Given the description of an element on the screen output the (x, y) to click on. 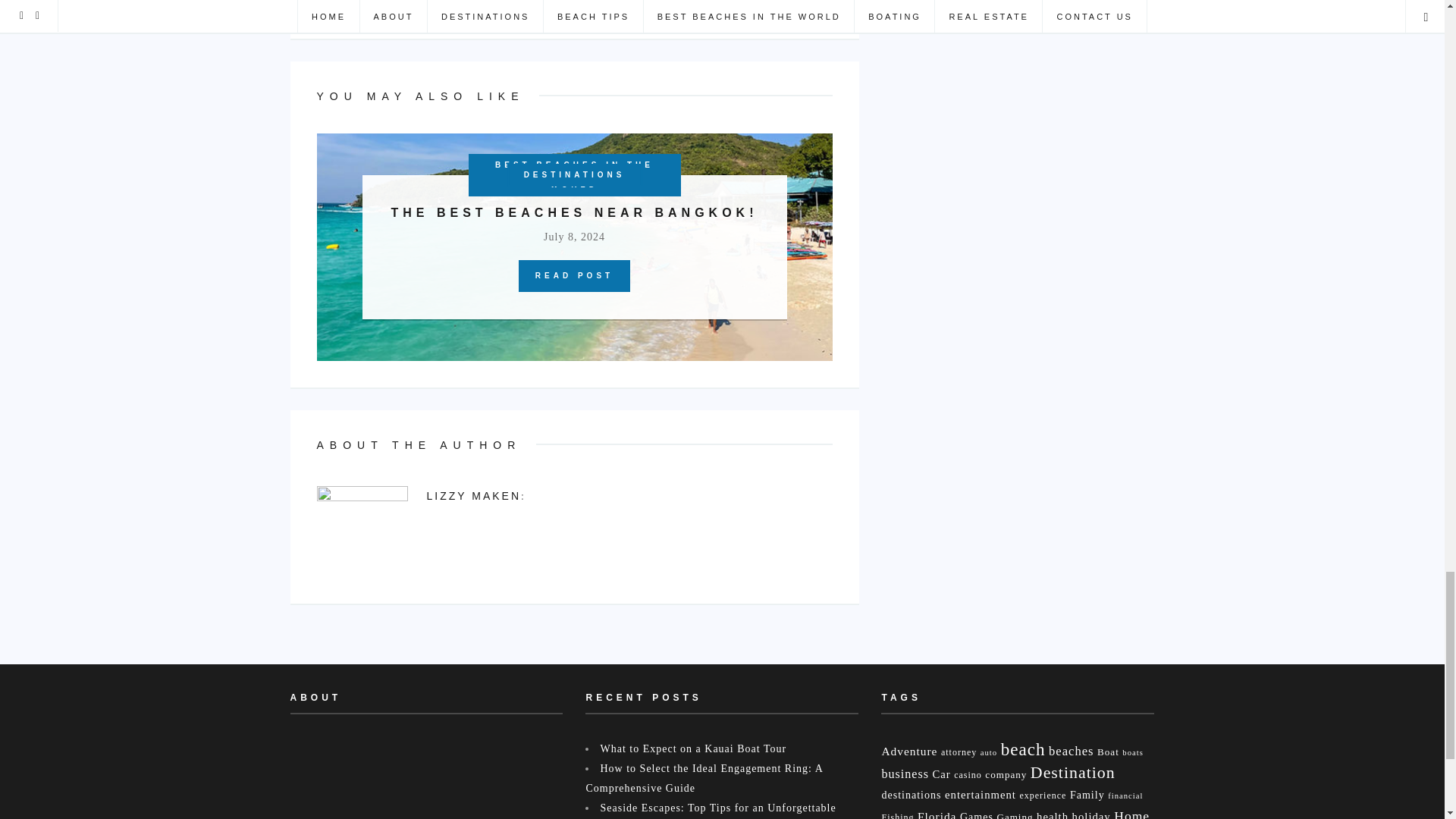
READ POST (574, 275)
JOB (674, 6)
BEST BEACHES IN THE WORLD (574, 174)
FREELANCER (601, 6)
DESTINATIONS (574, 174)
BUSINESS (509, 6)
WORK (804, 6)
SUCCESS (736, 6)
BEACH TIPS (574, 174)
